Given the description of an element on the screen output the (x, y) to click on. 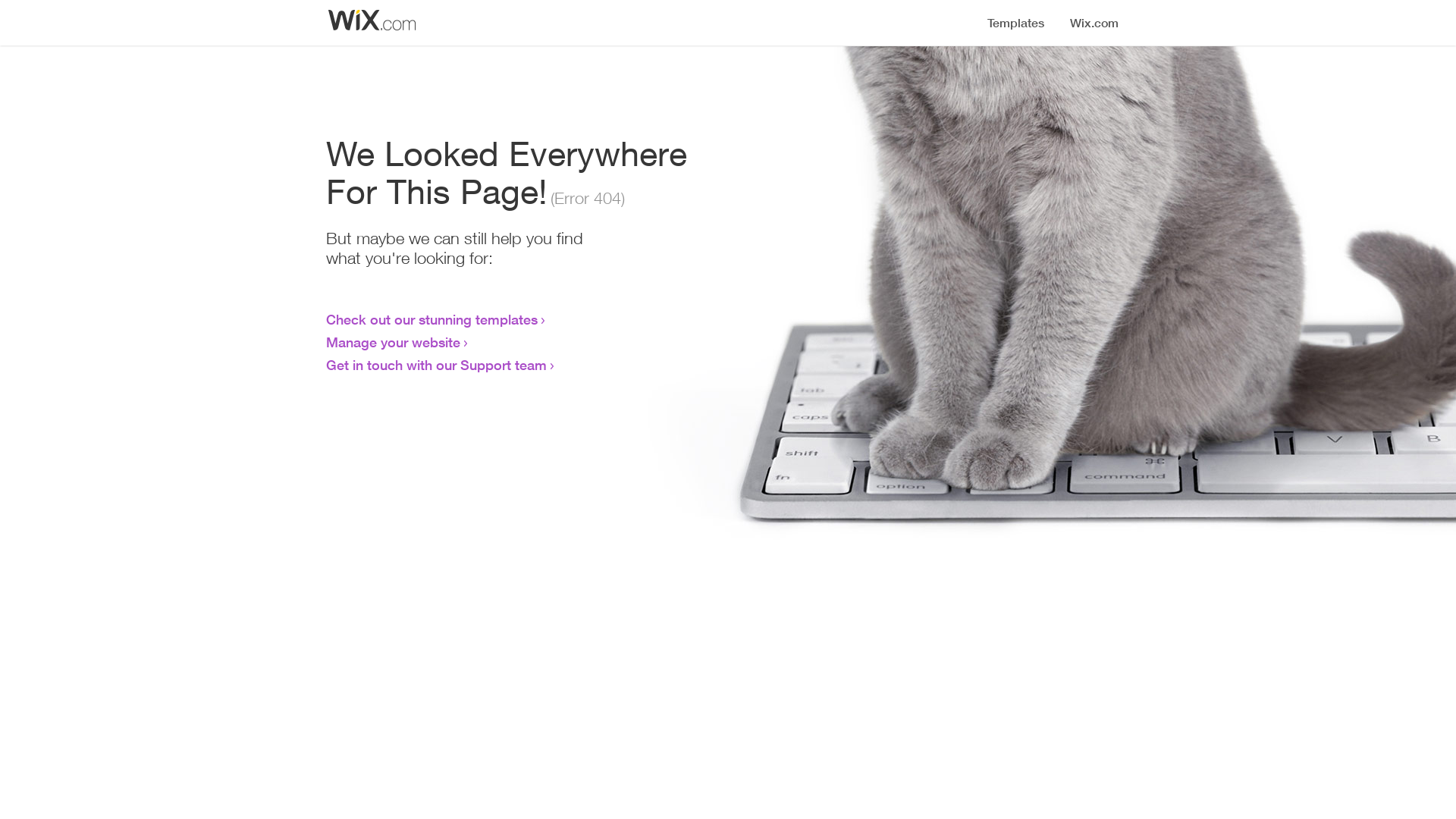
Check out our stunning templates Element type: text (431, 318)
Get in touch with our Support team Element type: text (436, 364)
Manage your website Element type: text (393, 341)
